Given the description of an element on the screen output the (x, y) to click on. 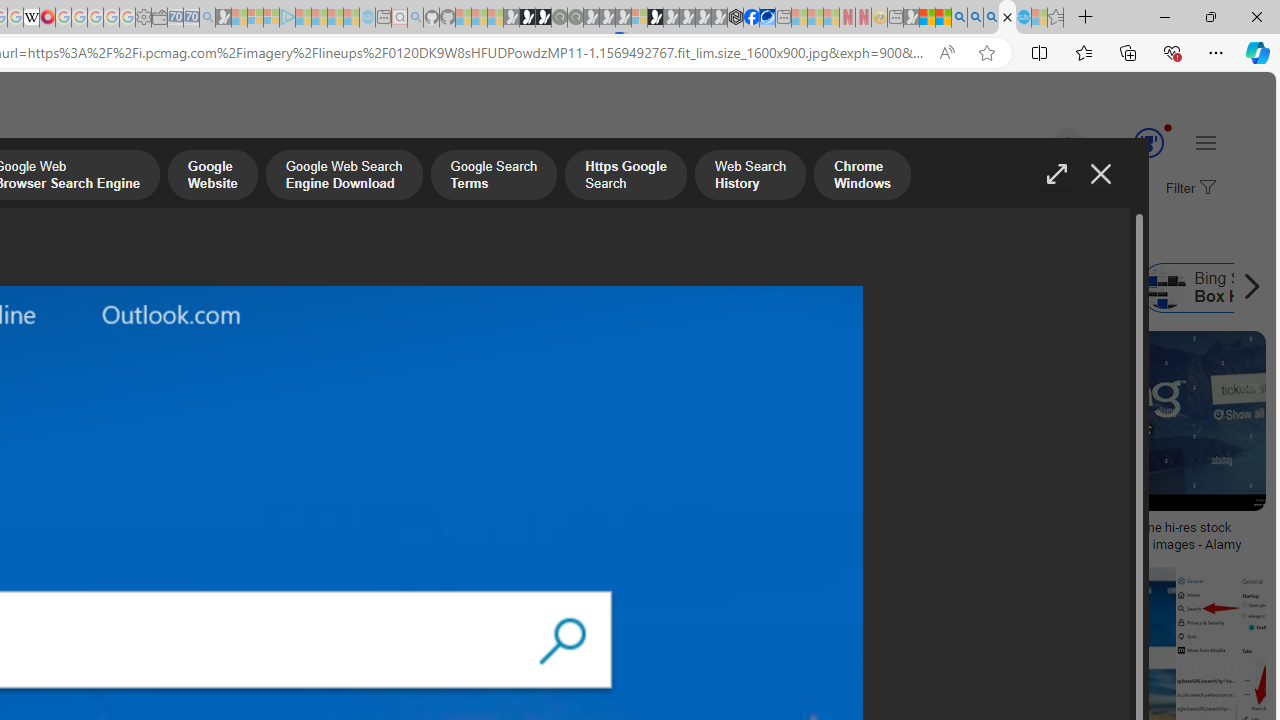
Class: item col (1051, 287)
Bing Hoodies (132, 460)
T-Shirts (132, 400)
Bing Home Search Site (1051, 287)
Old Bing (347, 287)
